Given the description of an element on the screen output the (x, y) to click on. 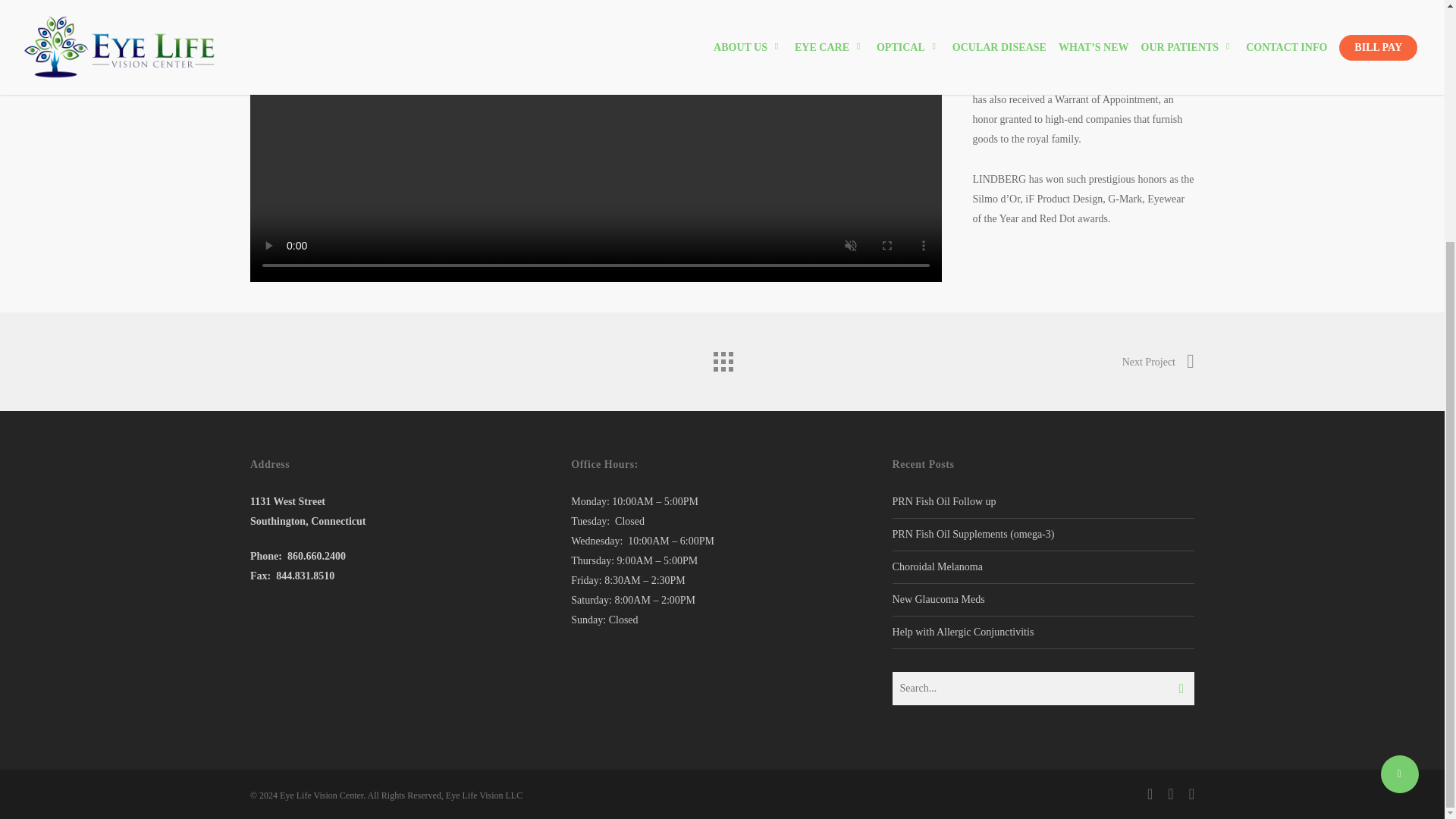
Back to all projects (721, 358)
Next Project (1157, 362)
PRN Fish Oil Follow up (943, 501)
New Glaucoma Meds (938, 599)
Search for: (1042, 688)
Choroidal Melanoma (937, 566)
